Given the description of an element on the screen output the (x, y) to click on. 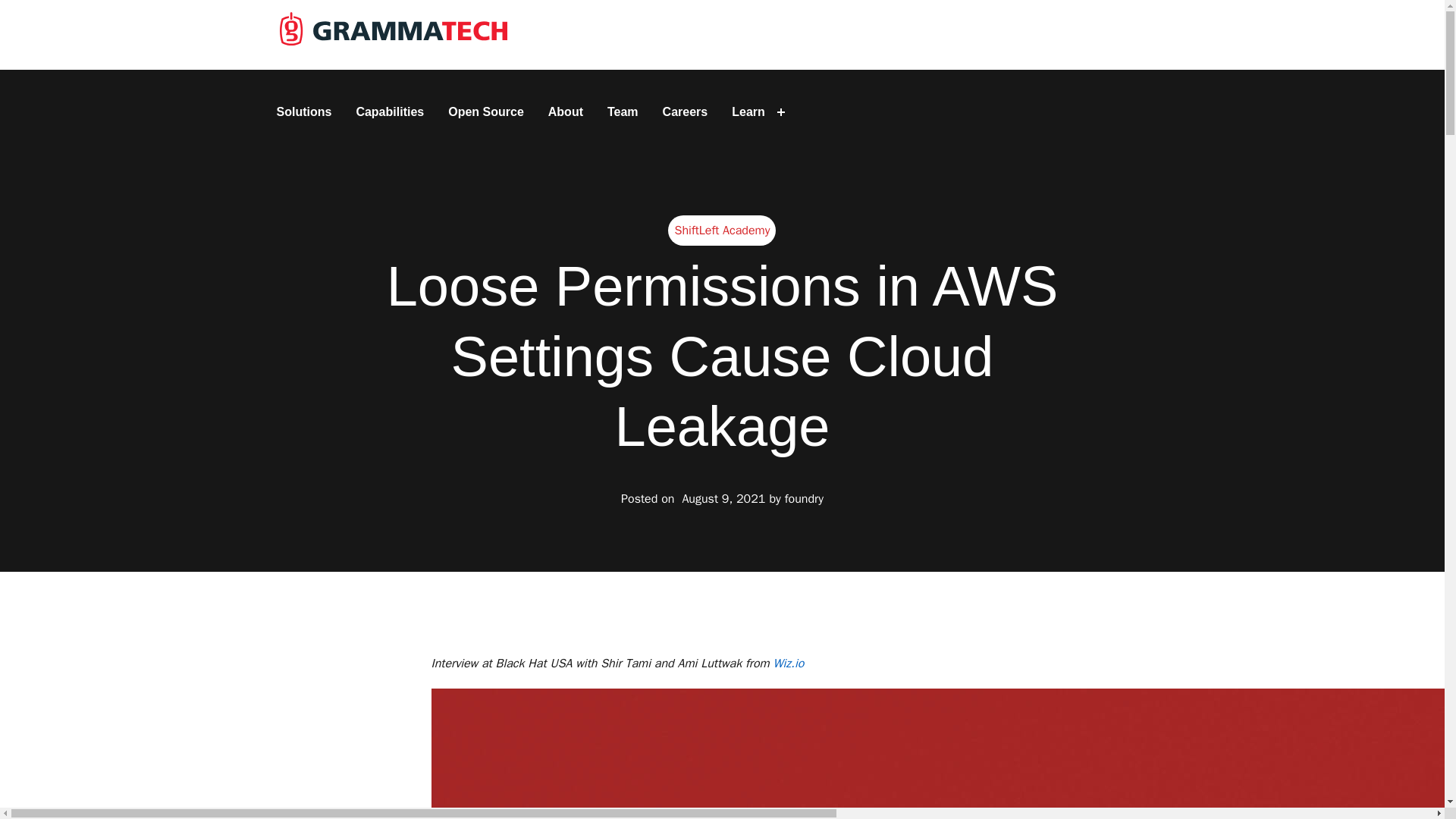
Careers (685, 112)
Team (622, 112)
Open Source (485, 112)
Solutions (303, 112)
Learn (748, 112)
Capabilities (389, 112)
Wiz.io (788, 662)
About (565, 112)
CONTACT US (1108, 34)
